Given the description of an element on the screen output the (x, y) to click on. 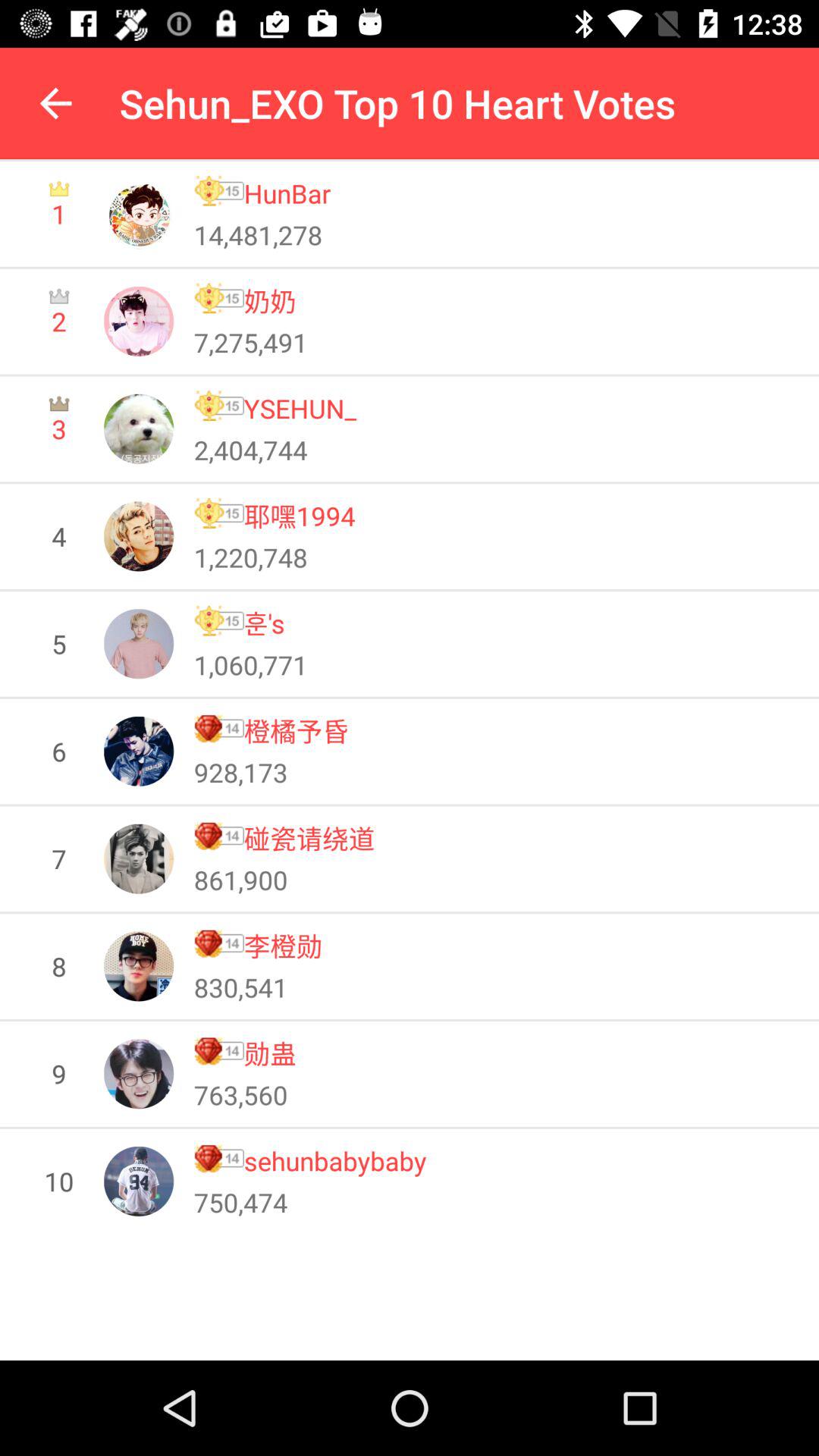
press 5 item (58, 643)
